Given the description of an element on the screen output the (x, y) to click on. 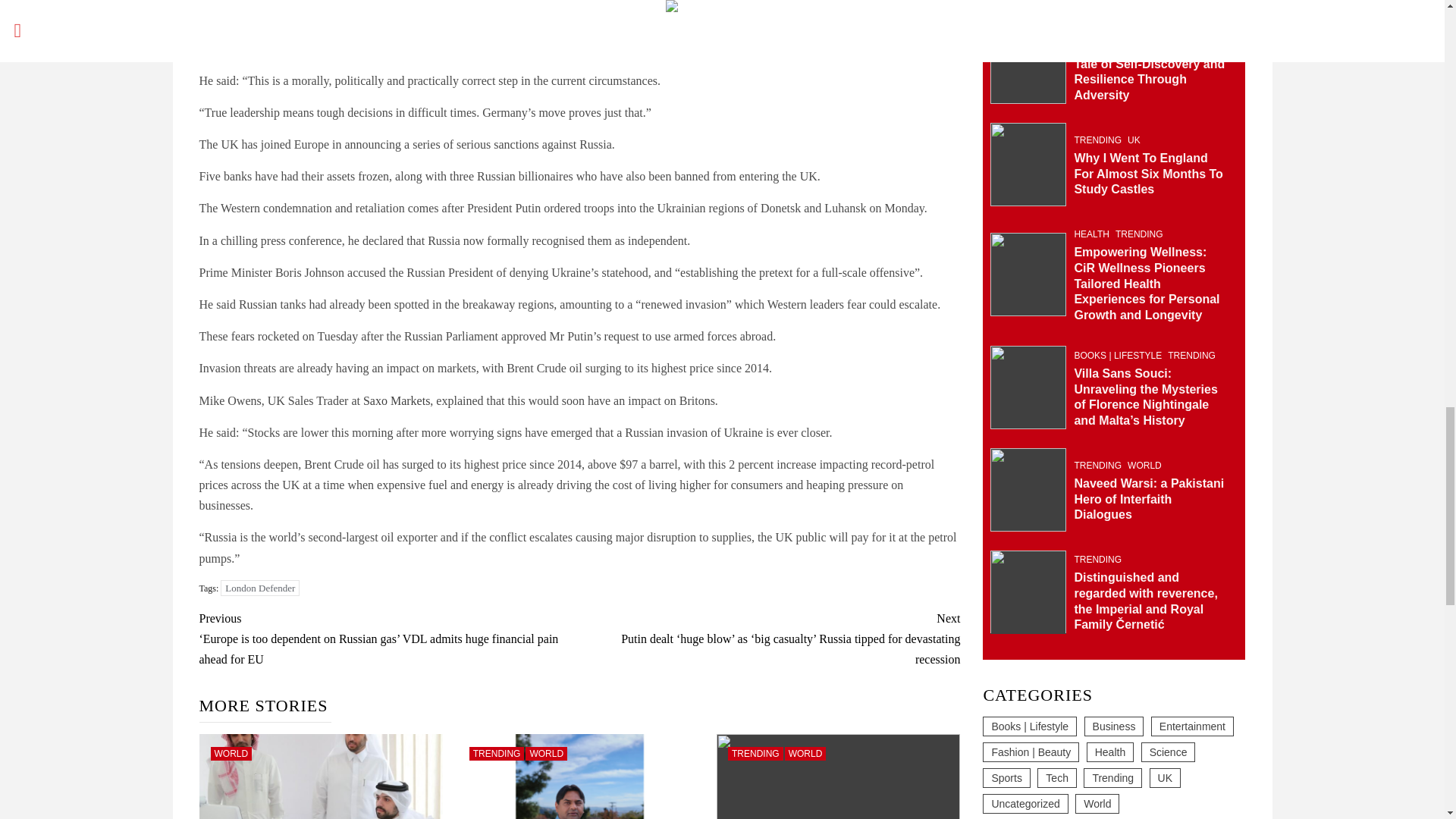
TRENDING (496, 753)
WORLD (805, 753)
TRENDING (755, 753)
WORLD (546, 753)
London Defender (260, 587)
WORLD (231, 753)
Saxo Markets (395, 400)
